Given the description of an element on the screen output the (x, y) to click on. 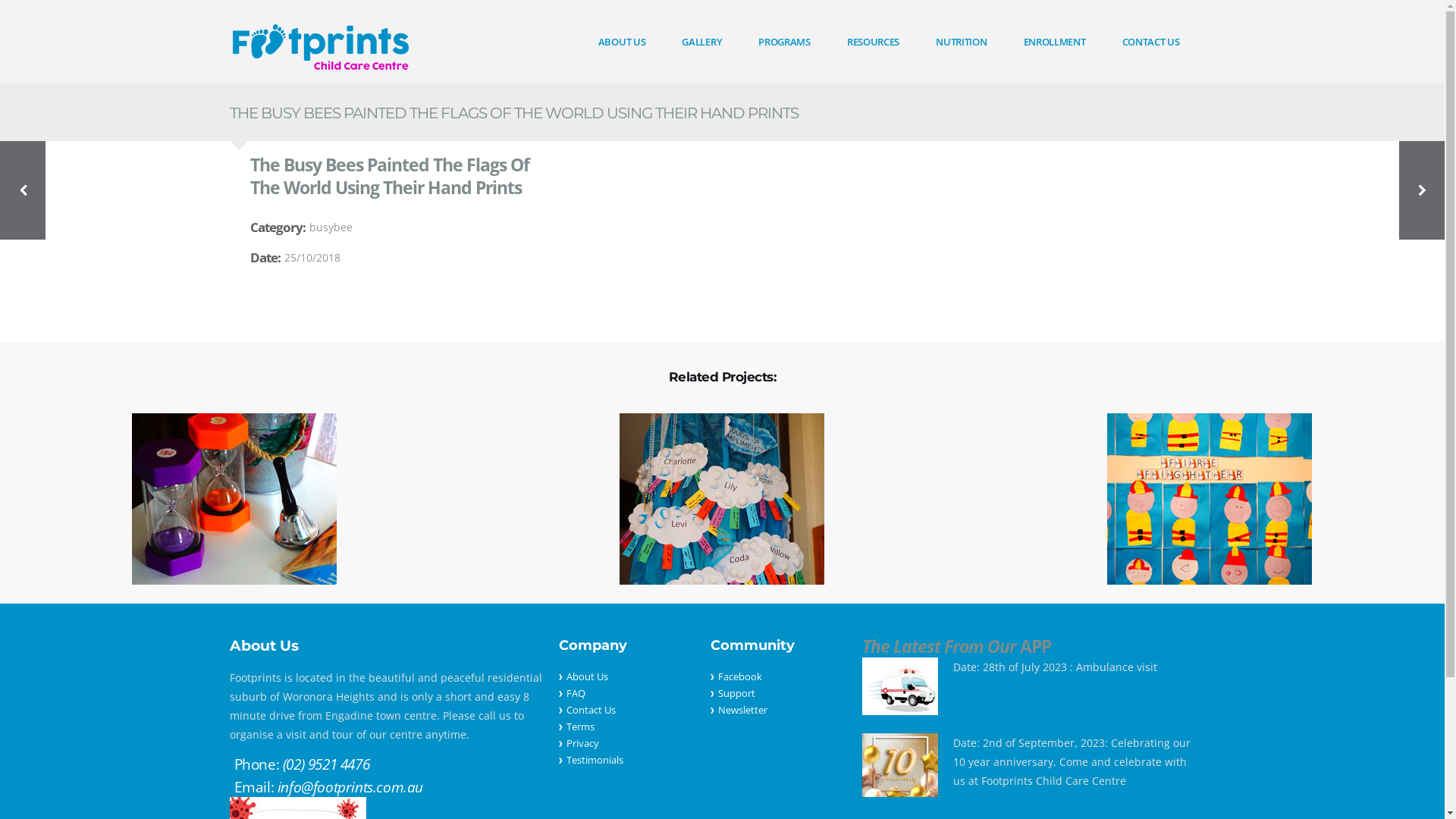
Facebook Element type: text (739, 676)
ABOUT US Element type: text (622, 41)
FAQ Element type: text (574, 692)
GALLERY Element type: text (701, 41)
Support Element type: text (735, 692)
Newsletter Element type: text (741, 709)
NUTRITION Element type: text (960, 41)
RESOURCES Element type: text (872, 41)
Contact Us Element type: text (590, 709)
Privacy Element type: text (581, 742)
ENROLLMENT Element type: text (1054, 41)
Terms Element type: text (579, 726)
About Us Element type: text (586, 676)
CONTACT US Element type: text (1151, 41)
PROGRAMS Element type: text (784, 41)
Testimonials Element type: text (593, 759)
